Given the description of an element on the screen output the (x, y) to click on. 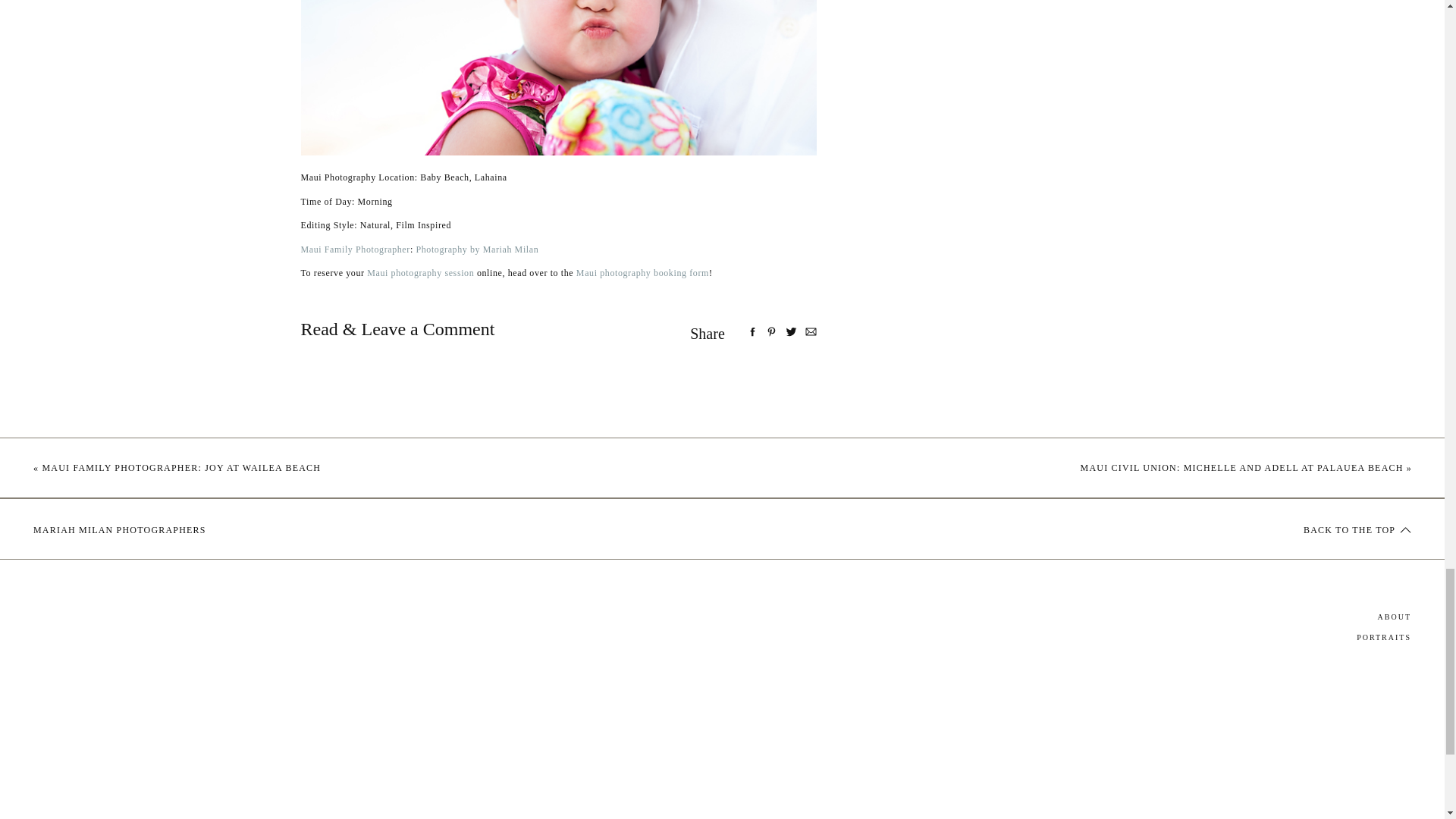
Maui Family Photographer (354, 249)
Maui photography session (421, 272)
Reserve Maui Photographer online (642, 272)
Maui Family Photographer (354, 249)
MAUI FAMILY PHOTOGRAPHER: JOY AT WAILEA BEACH (181, 467)
Maui Photographer (476, 249)
Maui photography booking form (642, 272)
MAUI CIVIL UNION: MICHELLE AND ADELL AT PALAUEA BEACH (1241, 467)
Photography by Mariah Milan (476, 249)
Maui Family Photographer (421, 272)
